Given the description of an element on the screen output the (x, y) to click on. 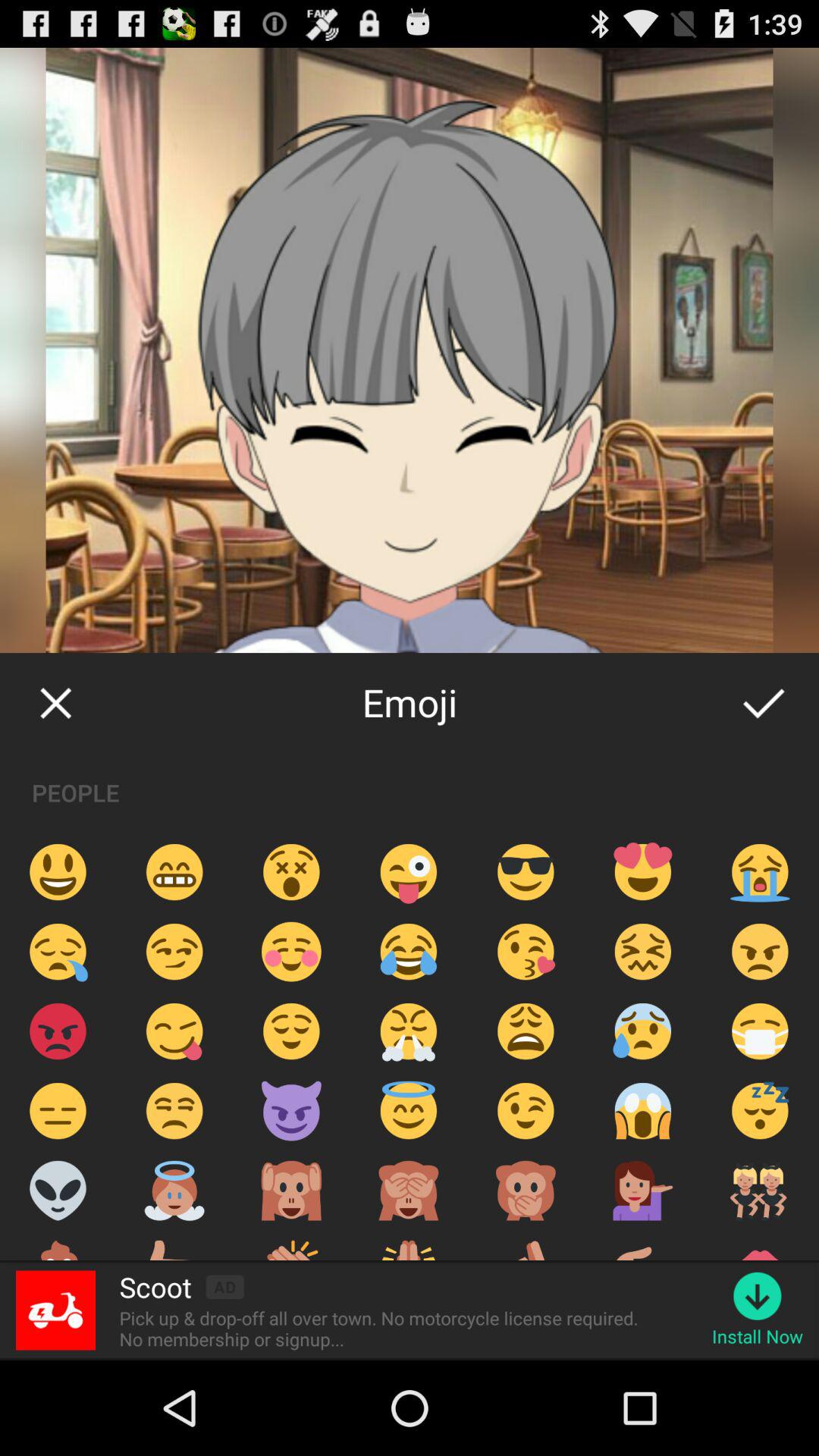
click item next to the install now icon (383, 1328)
